Given the description of an element on the screen output the (x, y) to click on. 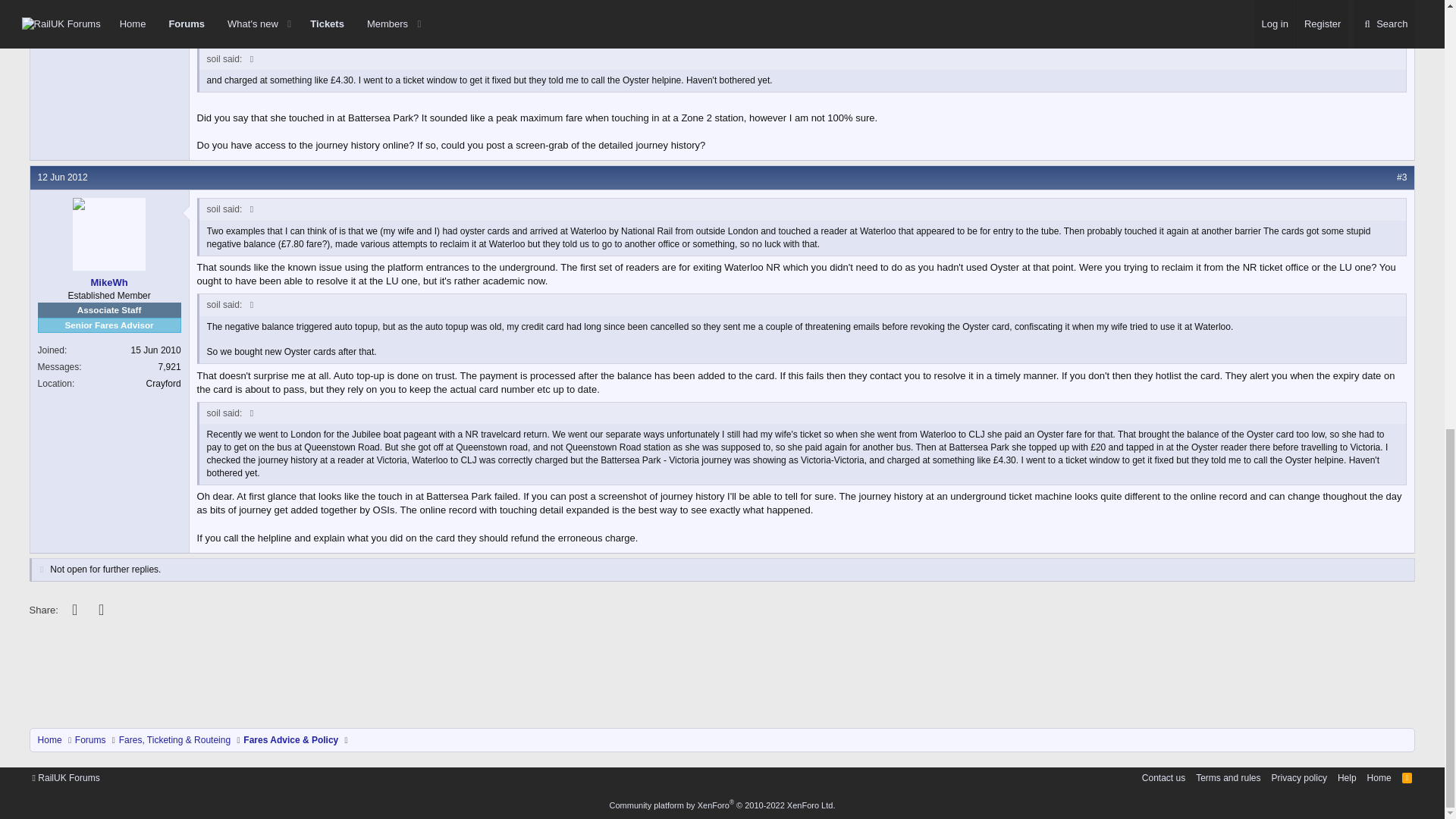
Style chooser (66, 777)
RSS (1407, 777)
12 Jun 2012 at 10:44 (62, 176)
